Given the description of an element on the screen output the (x, y) to click on. 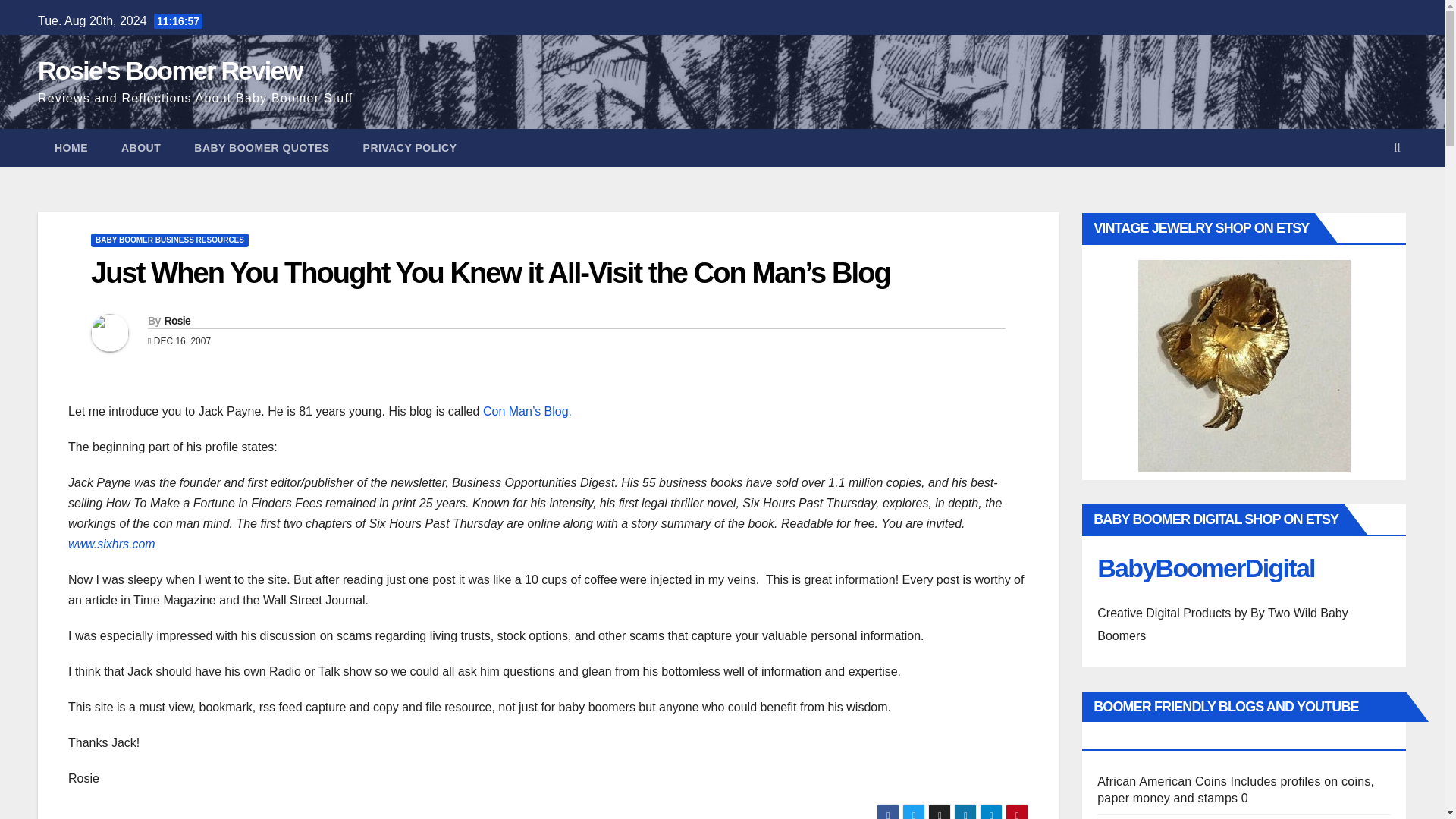
ABOUT (140, 147)
www.sixhrs.com (111, 543)
HOME (70, 147)
Rosie's Boomer Review (169, 70)
BABY BOOMER QUOTES (261, 147)
PRIVACY POLICY (410, 147)
Home (70, 147)
Rosie (176, 320)
Includes profiles on coins, paper money and stamps (1162, 780)
BABY BOOMER BUSINESS RESOURCES (169, 240)
